Given the description of an element on the screen output the (x, y) to click on. 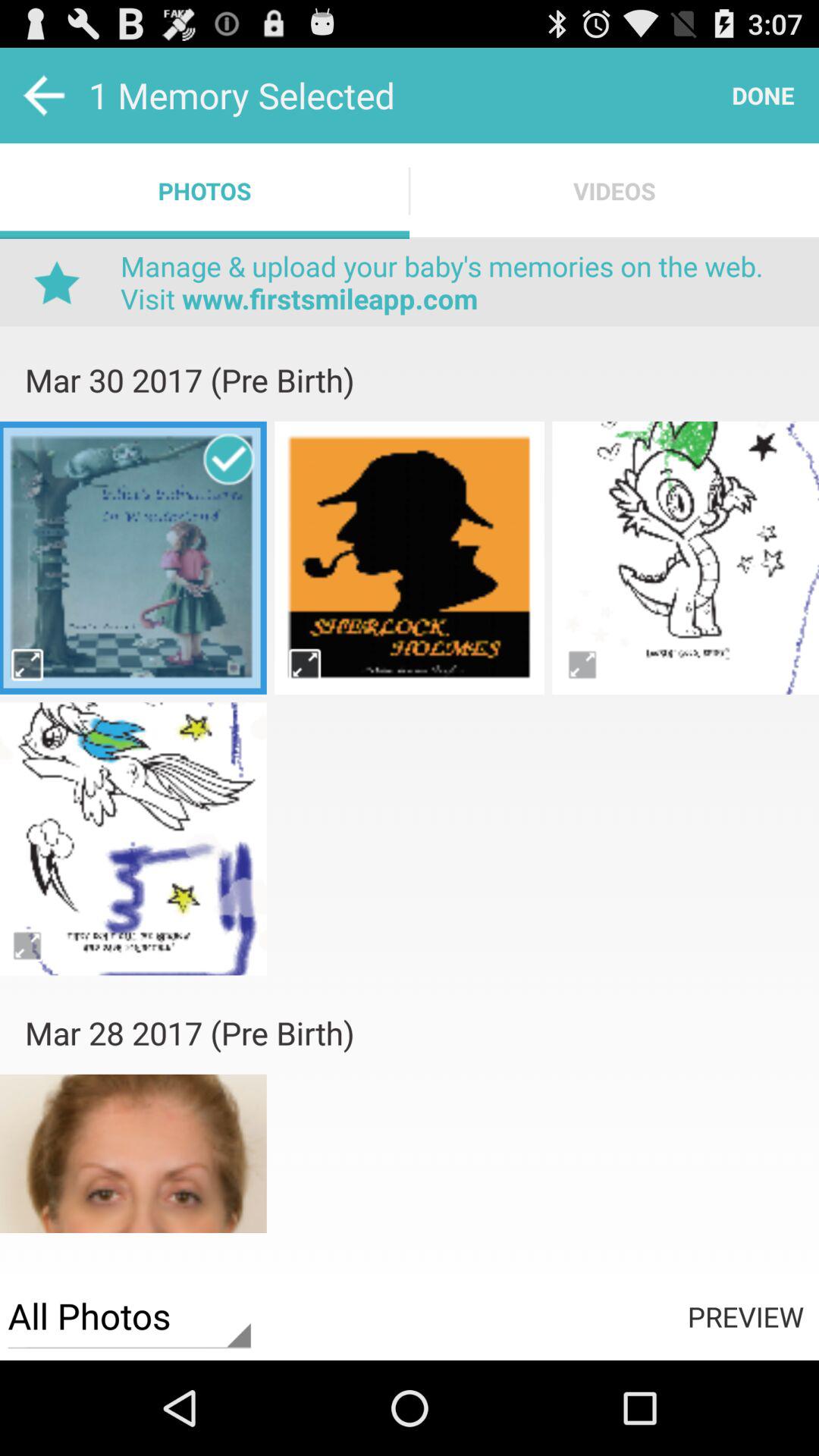
bird pega (685, 557)
